Given the description of an element on the screen output the (x, y) to click on. 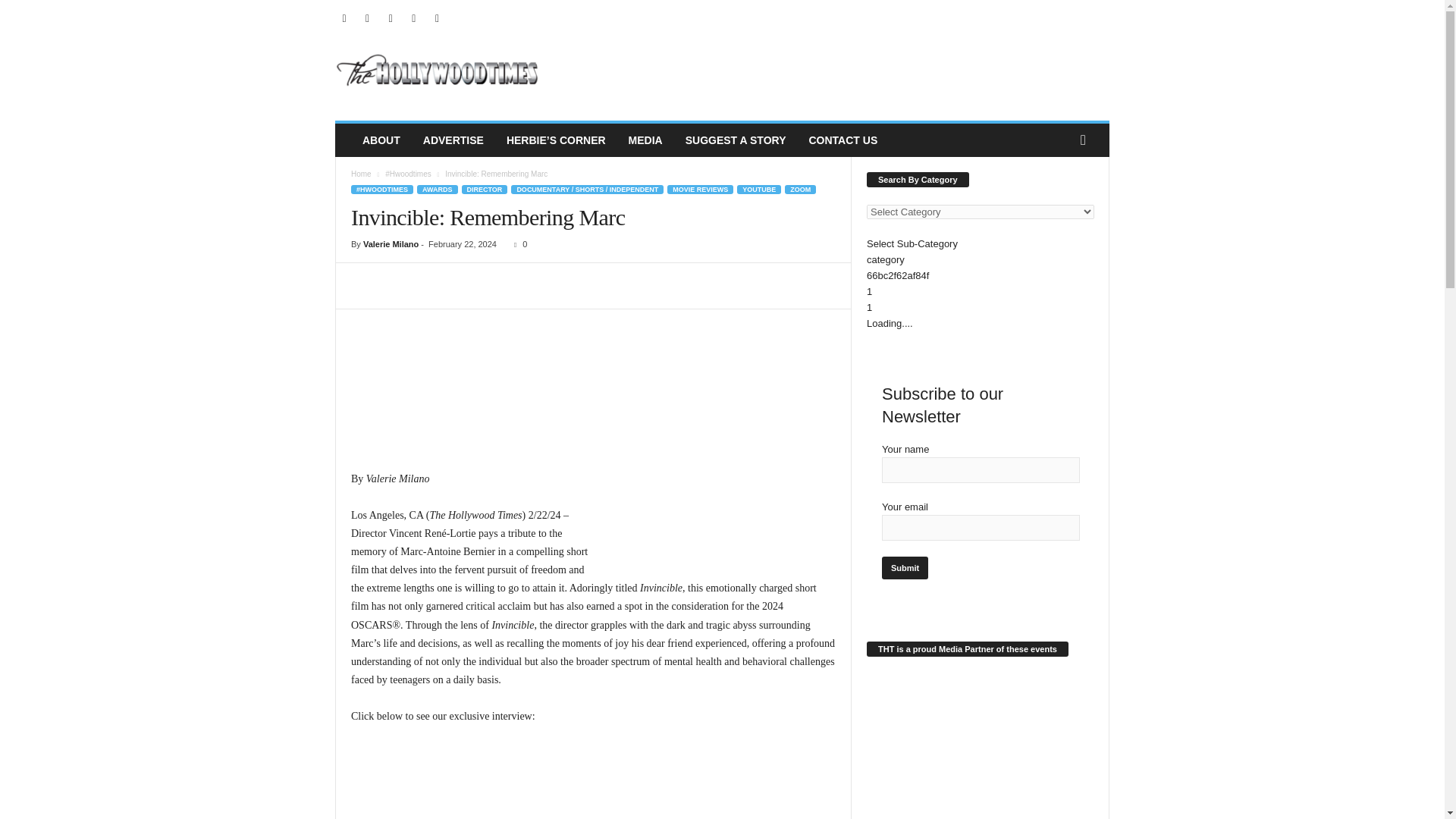
ABOUT (381, 140)
MEDIA (645, 140)
CONTACT US (842, 140)
Submit (905, 567)
ADVERTISE (453, 140)
Hollywood Times (437, 70)
SUGGEST A STORY (735, 140)
